Given the description of an element on the screen output the (x, y) to click on. 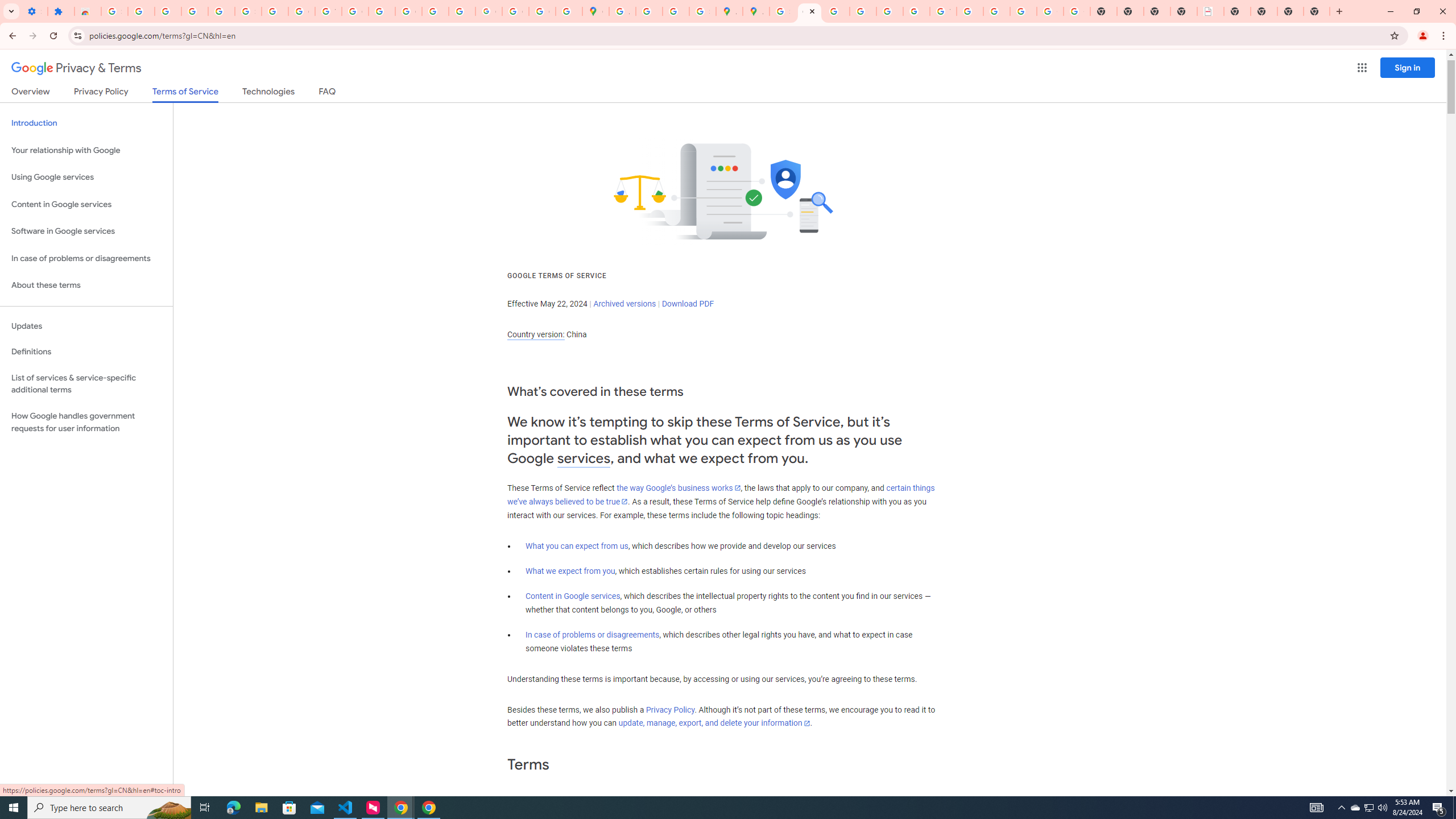
https://scholar.google.com/ (382, 11)
In case of problems or disagreements (592, 634)
Sign in - Google Accounts (248, 11)
